Given the description of an element on the screen output the (x, y) to click on. 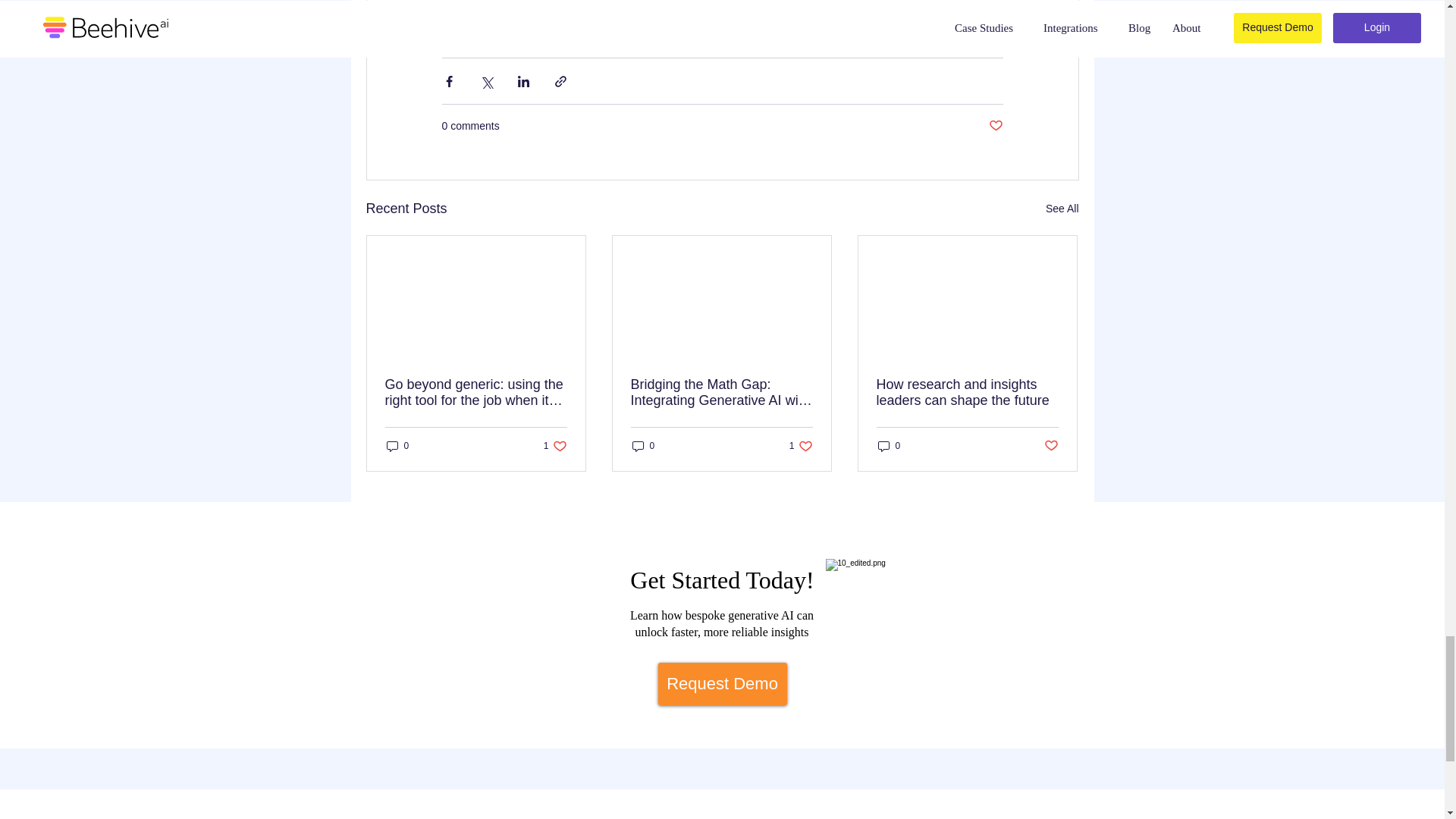
0 (397, 445)
Post not marked as liked (1050, 446)
Request Demo (722, 683)
See All (1061, 209)
0 (889, 445)
0 (555, 445)
How research and insights leaders can shape the future (800, 445)
Post not marked as liked (643, 445)
